Given the description of an element on the screen output the (x, y) to click on. 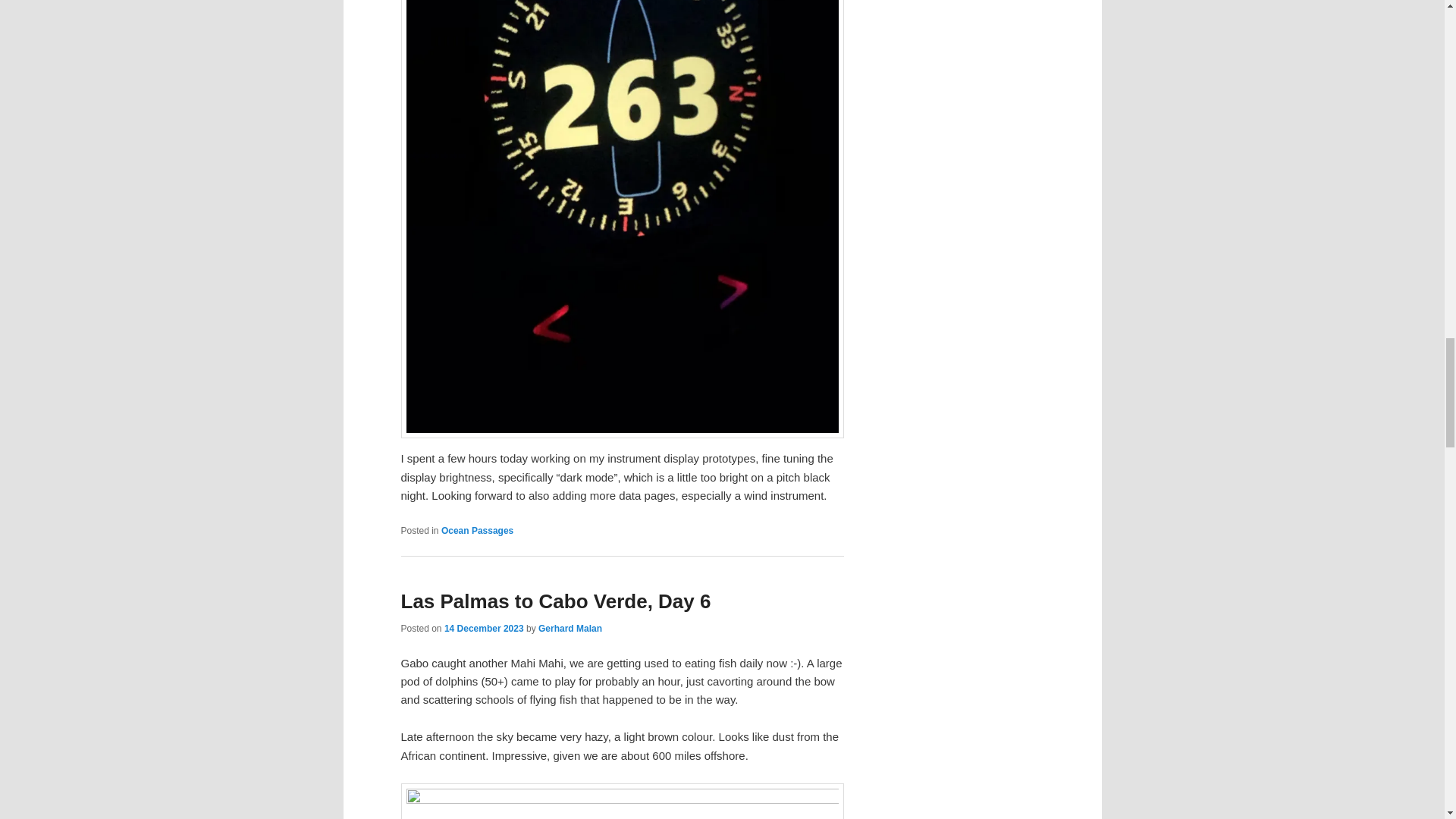
View all posts by Gerhard Malan (570, 628)
Ocean Passages (477, 530)
Las Palmas to Cabo Verde, Day 6 (555, 600)
6:19 AM (484, 628)
Gerhard Malan (570, 628)
14 December 2023 (484, 628)
